Given the description of an element on the screen output the (x, y) to click on. 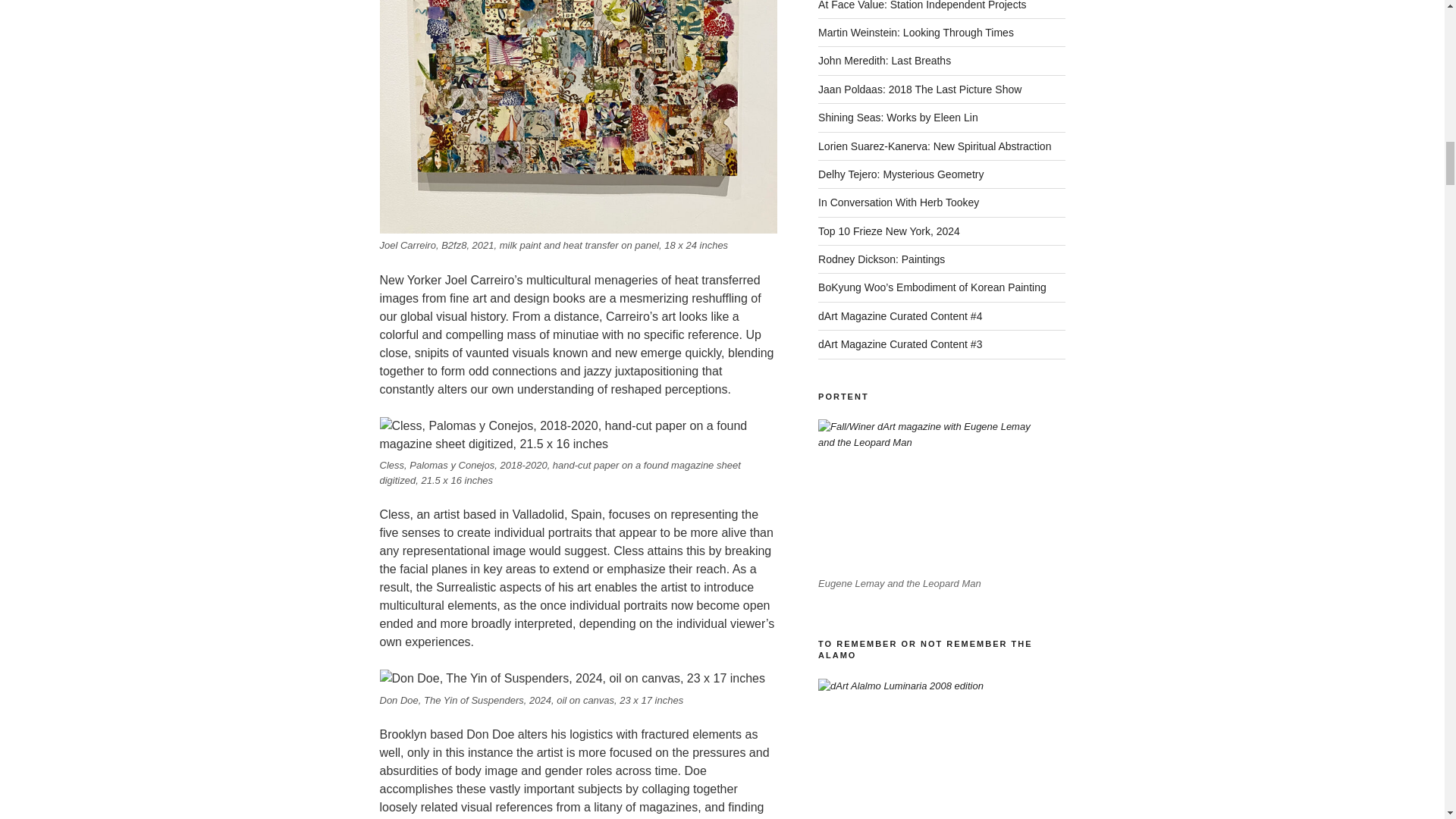
Martin Weinstein: Looking Through Times (915, 32)
Beverly Buchanan: Shacks and Legends (931, 493)
At Face Value: Station Independent Projects (922, 5)
To Remember or Not Remember the Alamo (912, 748)
